Given the description of an element on the screen output the (x, y) to click on. 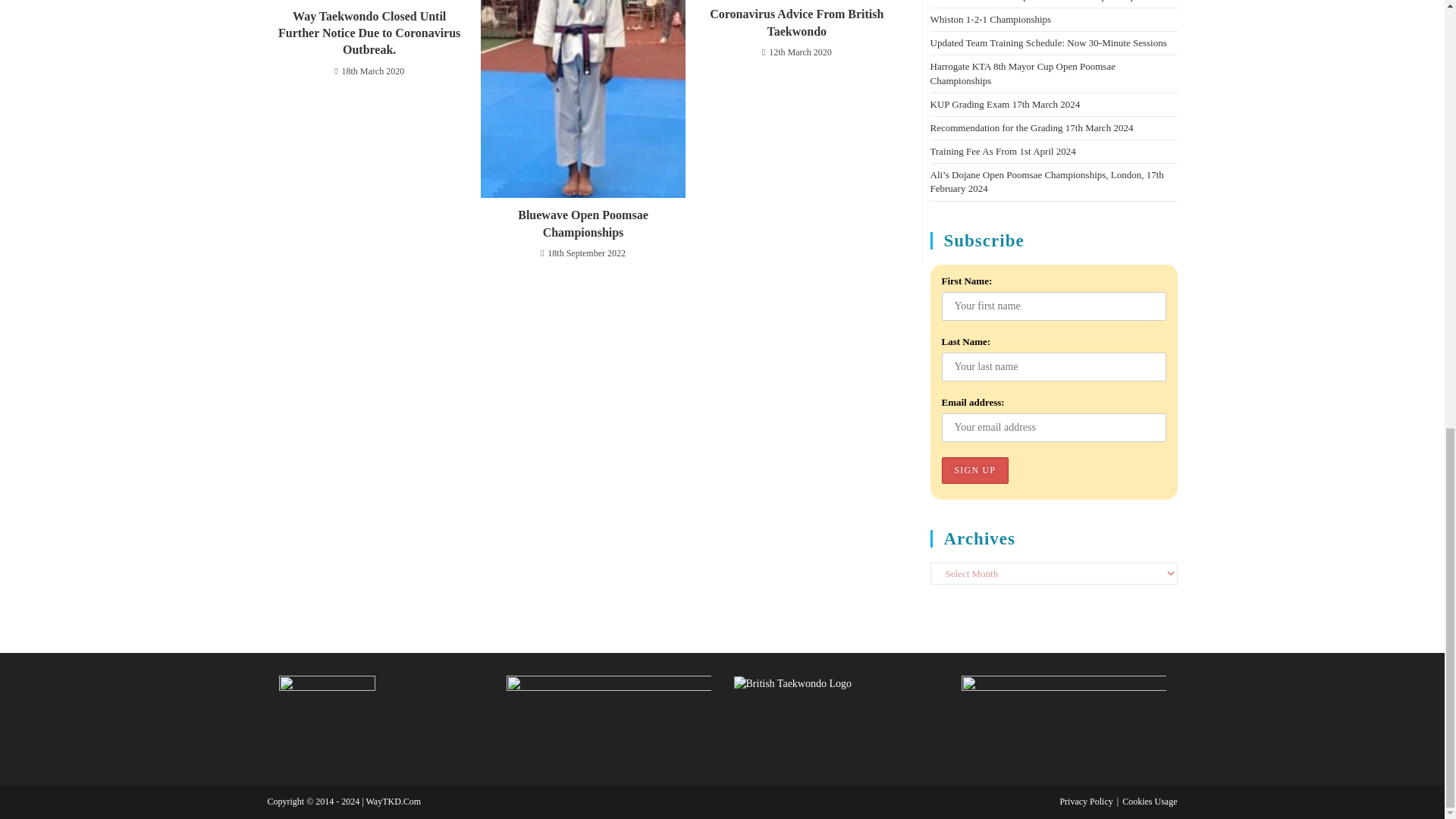
Bluewave Open Poomsae Championships (582, 223)
Coronavirus Advice From British Taekwondo (796, 22)
Sign up (975, 470)
